Given the description of an element on the screen output the (x, y) to click on. 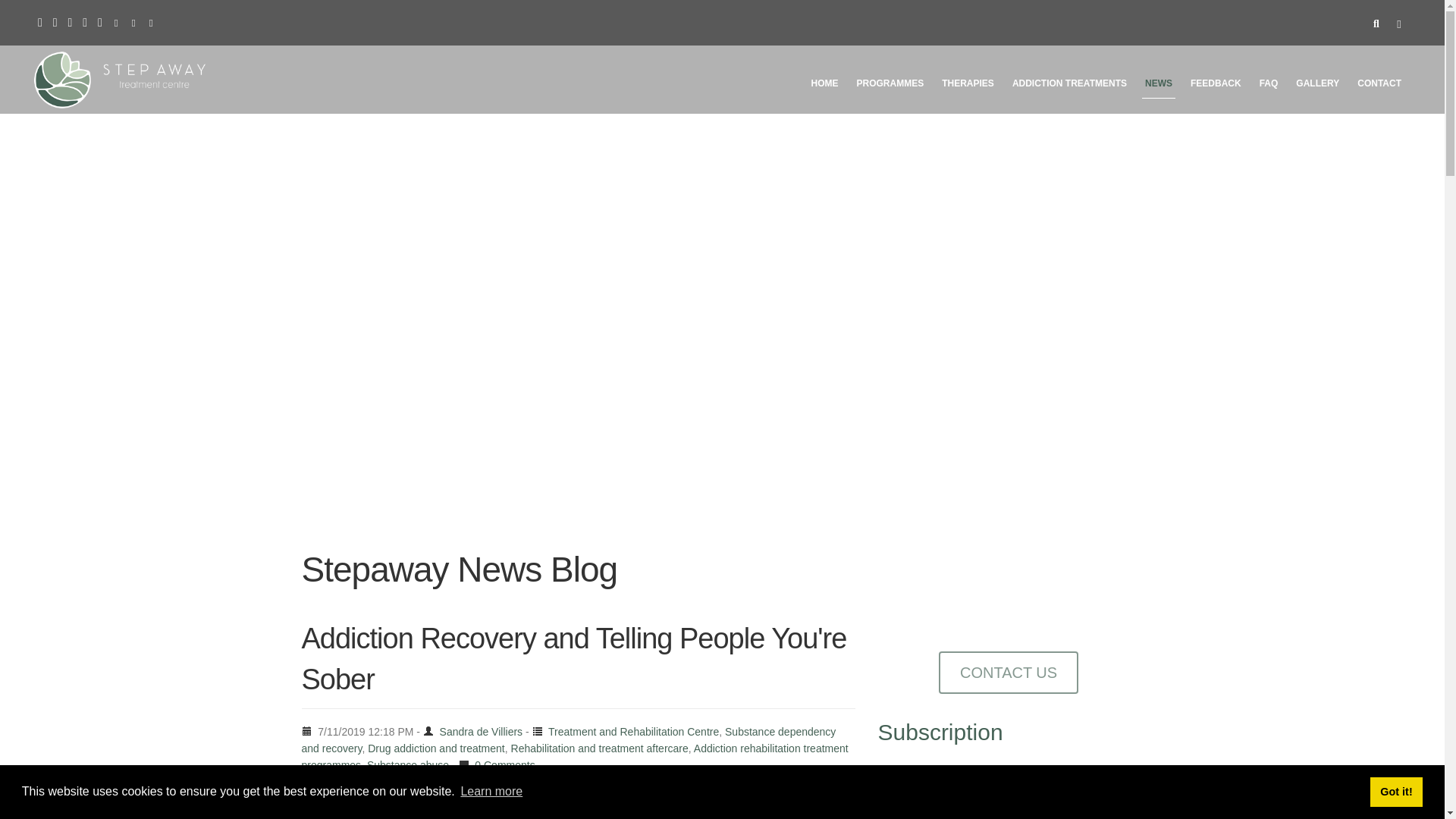
RSS (84, 21)
Got it! (1396, 791)
FEEDBACK (1216, 87)
Step Away Rehab Centre Port Elizabeth (119, 78)
Linkedin (55, 21)
THERAPIES (968, 87)
Pinterest (69, 21)
View all posts in Treatment and Rehabilitation Centre (633, 731)
Facebook (39, 21)
HOME (824, 87)
View all posts in Rehabilitation and treatment aftercare (599, 748)
ADDICTION TREATMENTS (1069, 87)
Learn more (491, 791)
View all posts in Drug addiction and treatment (436, 748)
Twitter (100, 21)
